Given the description of an element on the screen output the (x, y) to click on. 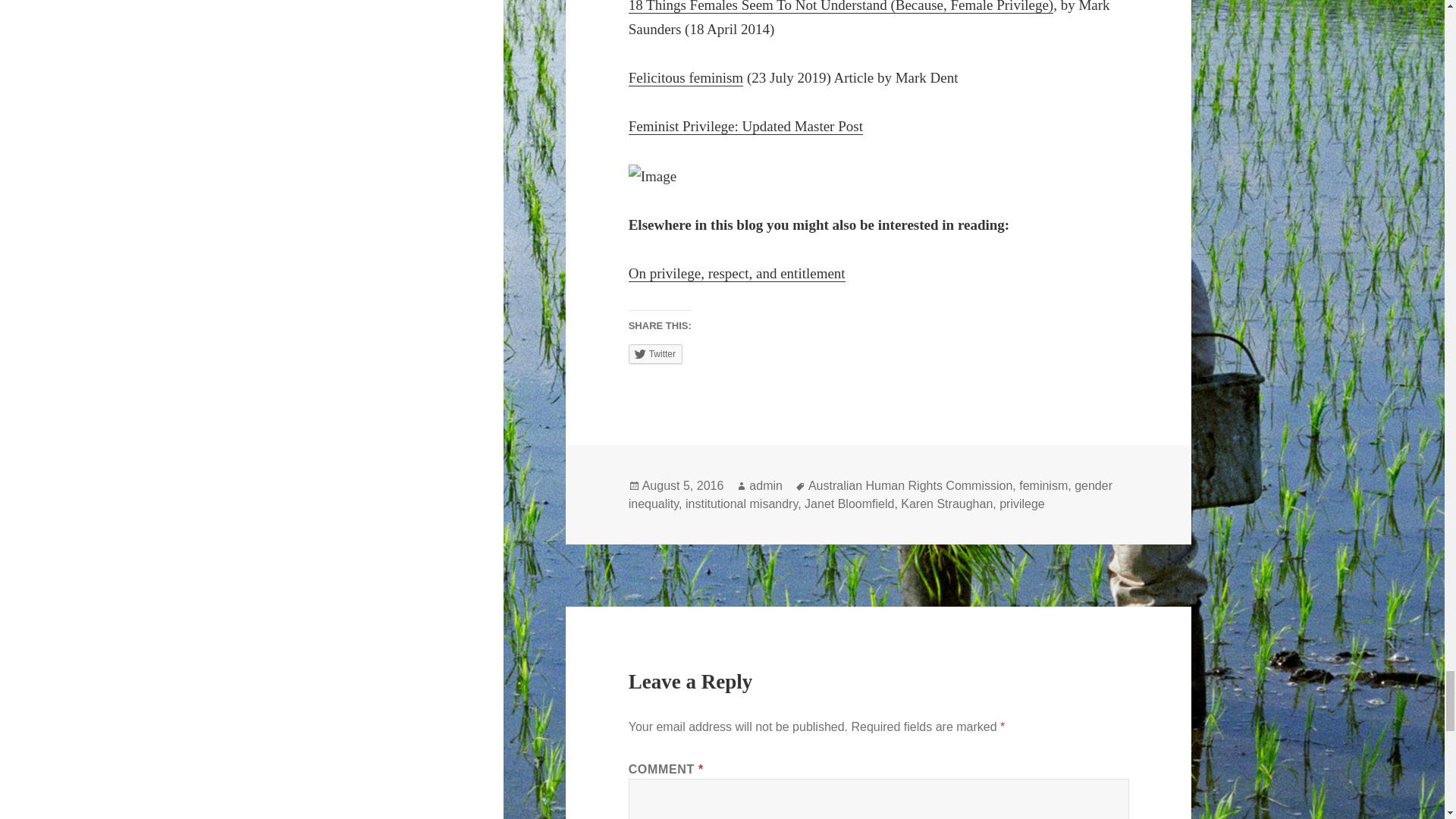
feminism (1043, 486)
institutional misandry (741, 504)
August 5, 2016 (682, 486)
gender inequality (870, 495)
Australian Human Rights Commission (909, 486)
On privilege, respect, and entitlement (736, 273)
admin (766, 486)
Felicitous feminism (685, 77)
Twitter (655, 353)
Click to share on Twitter (655, 353)
Feminist Privilege: Updated Master Post (745, 126)
Janet Bloomfield (849, 504)
